Given the description of an element on the screen output the (x, y) to click on. 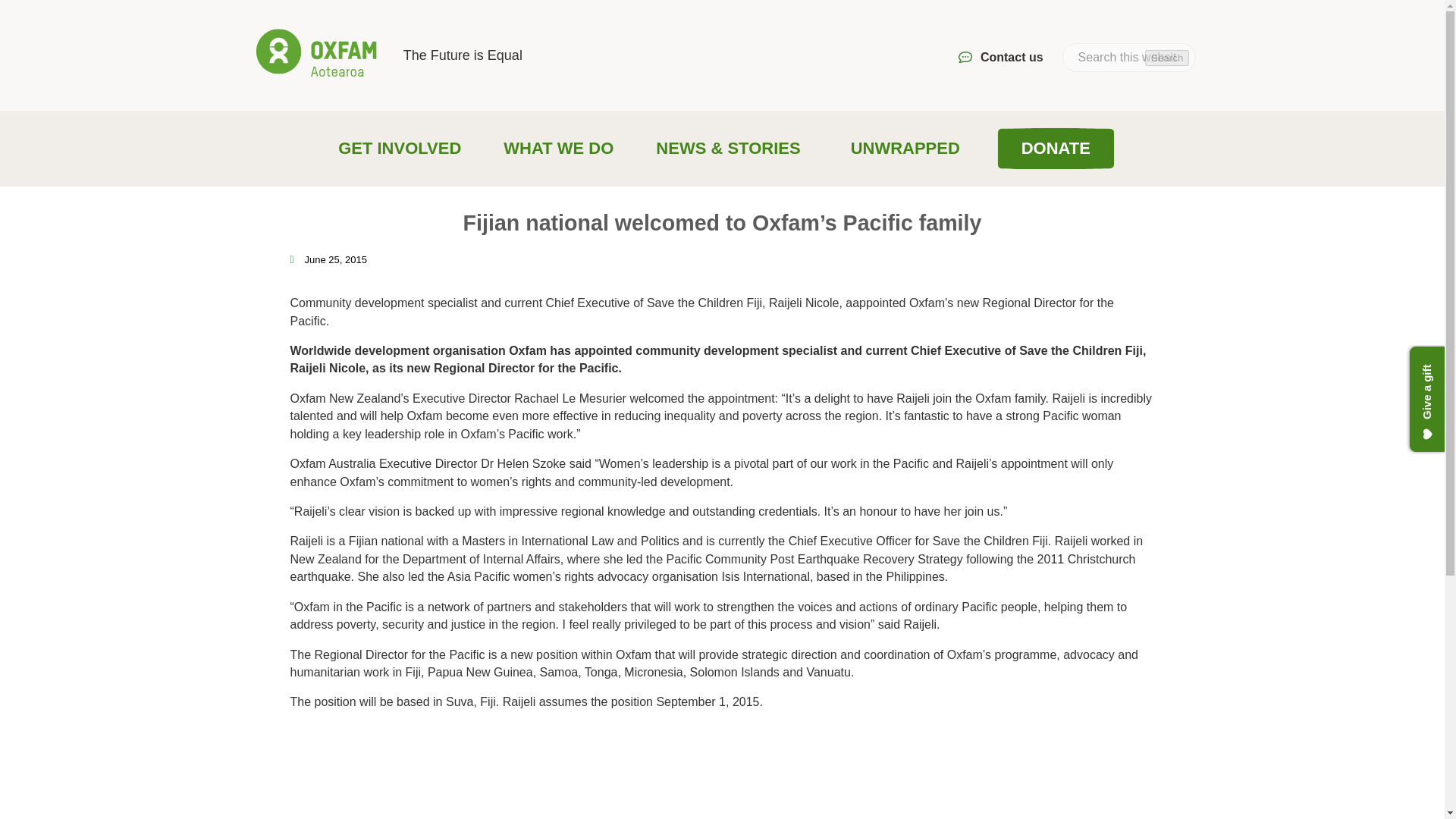
Contact us (1000, 57)
Search (1166, 57)
UNWRAPPED (905, 148)
Search (1166, 57)
WHAT WE DO (561, 148)
Search (1166, 57)
GET INVOLVED (401, 148)
DONATE (1056, 148)
